Given the description of an element on the screen output the (x, y) to click on. 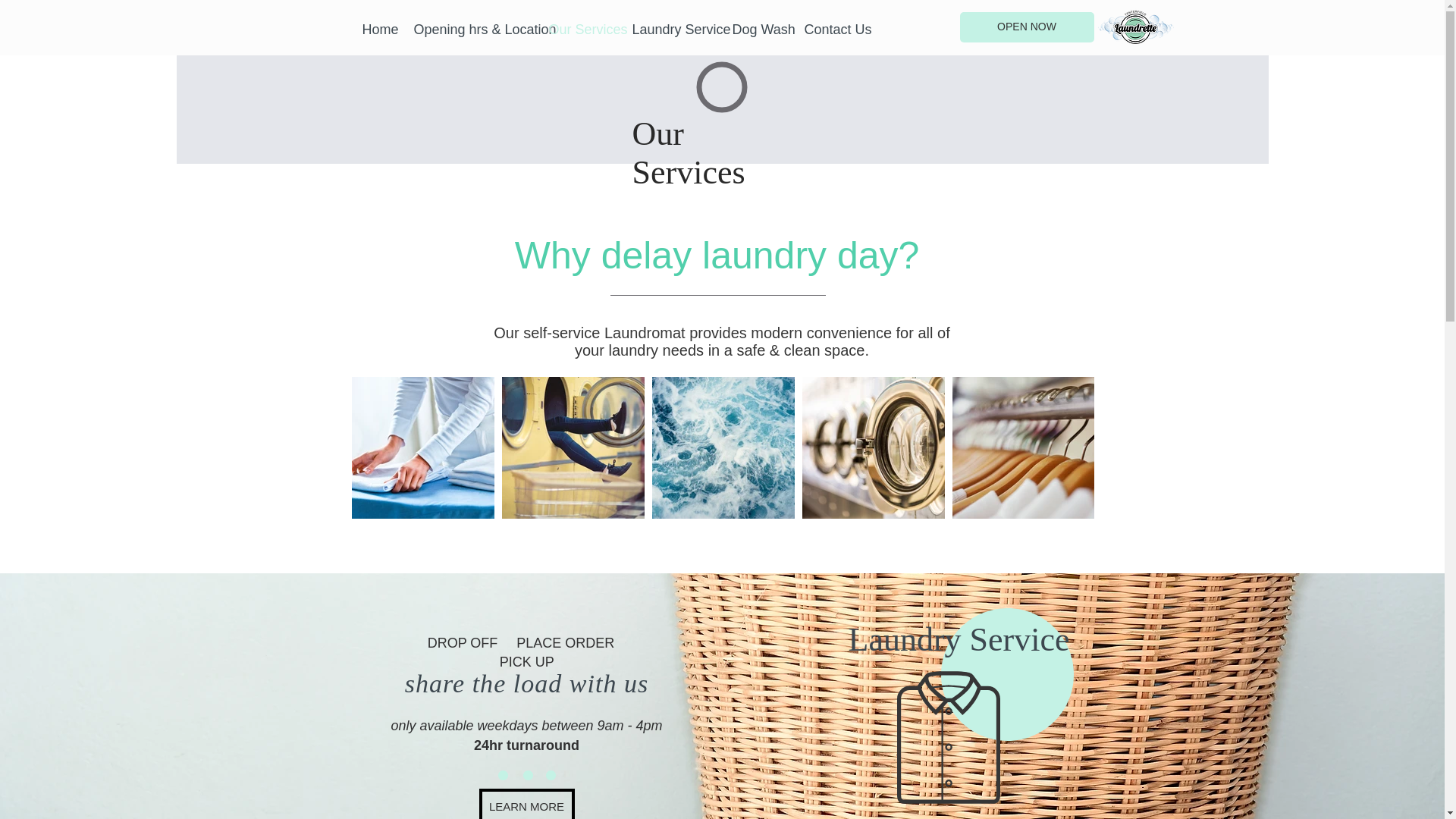
Home (375, 29)
Laundry Service (670, 29)
Our Services (578, 29)
OPEN NOW (1026, 27)
Dog Wash (756, 29)
LEARN MORE (527, 803)
Contact Us (830, 29)
